Given the description of an element on the screen output the (x, y) to click on. 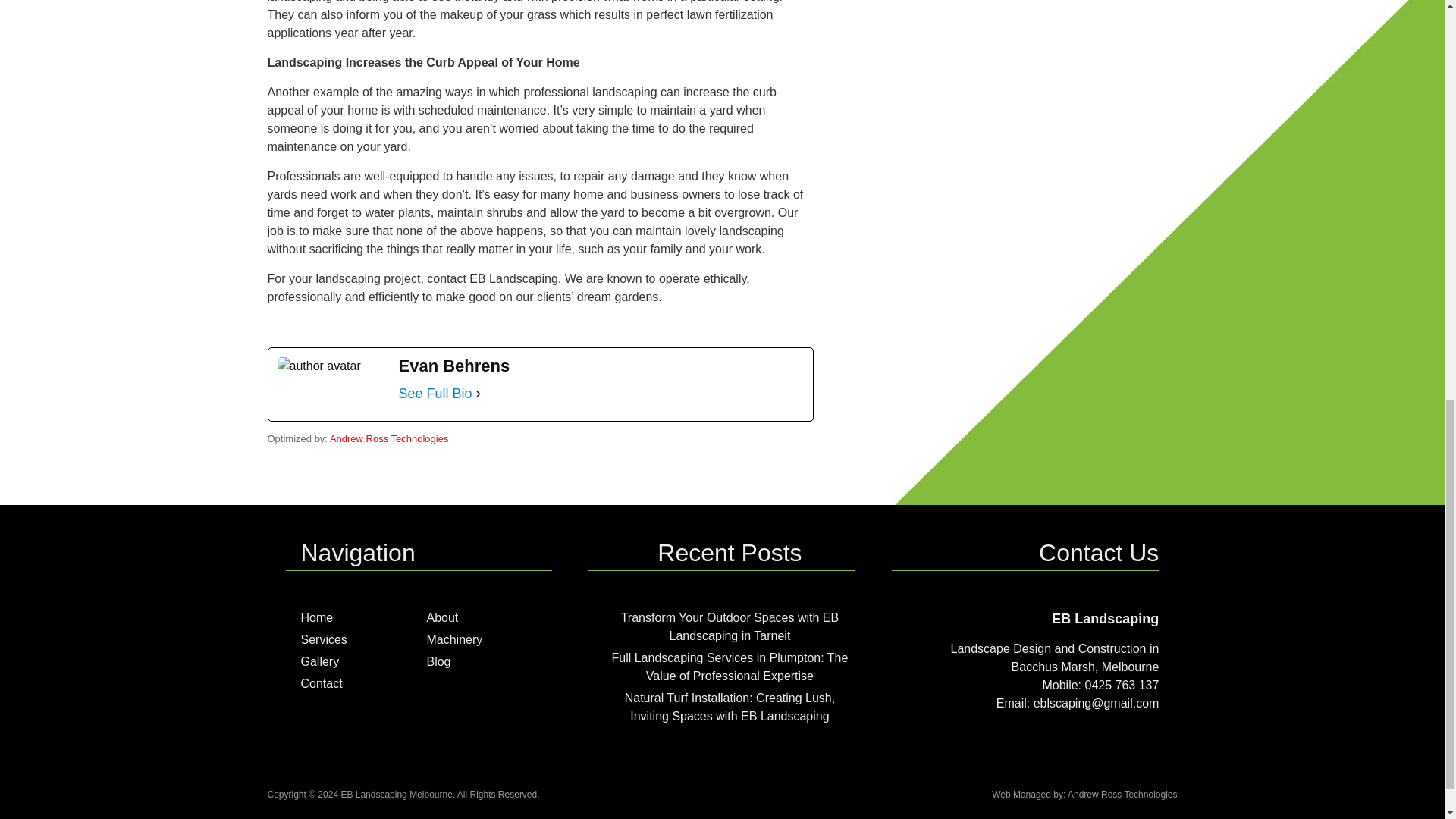
See Full Bio (434, 393)
Andrew Ross Technologies (389, 438)
About (442, 617)
Services (322, 639)
Home (316, 617)
